Given the description of an element on the screen output the (x, y) to click on. 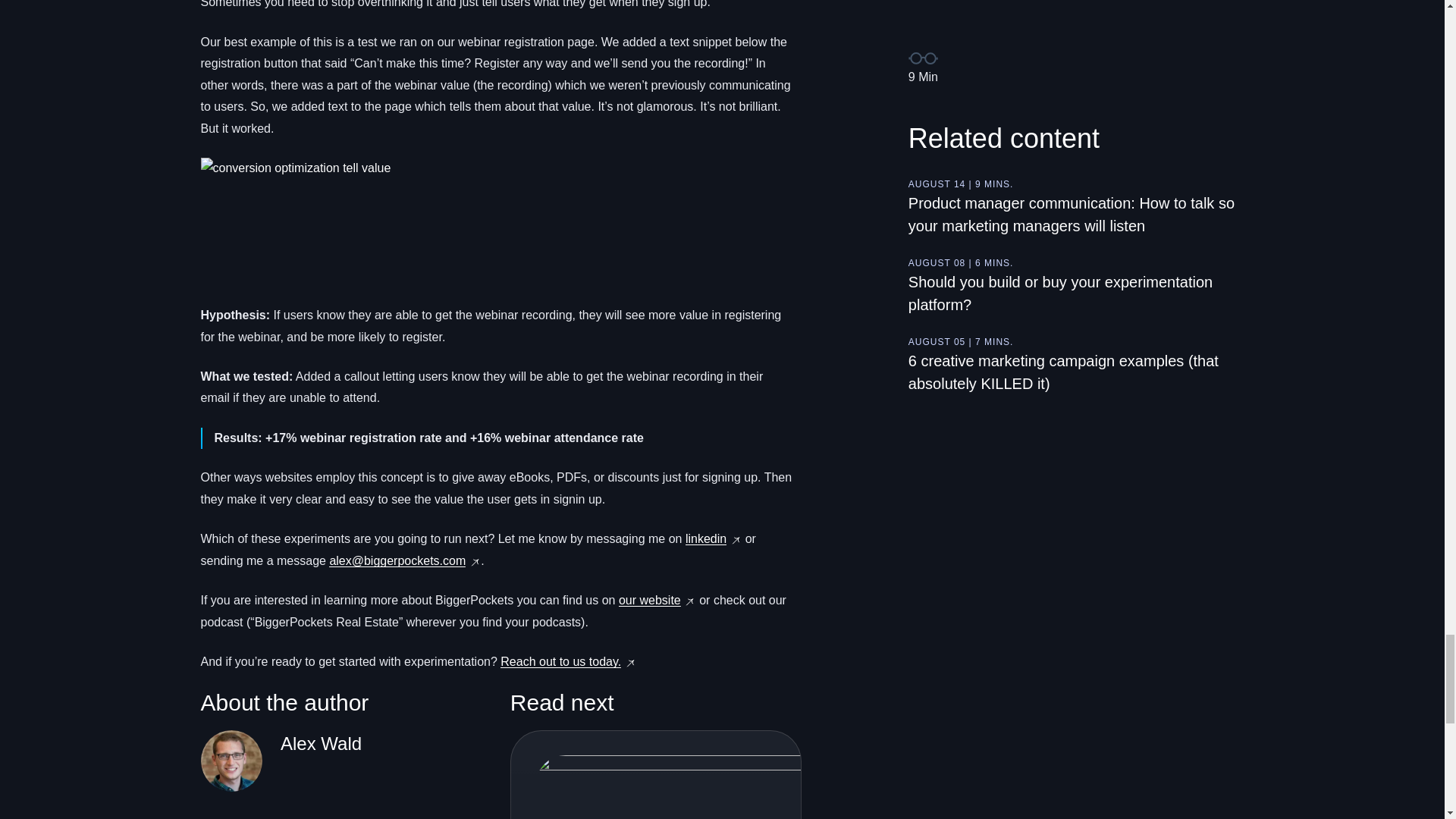
our website (649, 599)
linkedin (705, 538)
Reach out to us today. (560, 661)
